Given the description of an element on the screen output the (x, y) to click on. 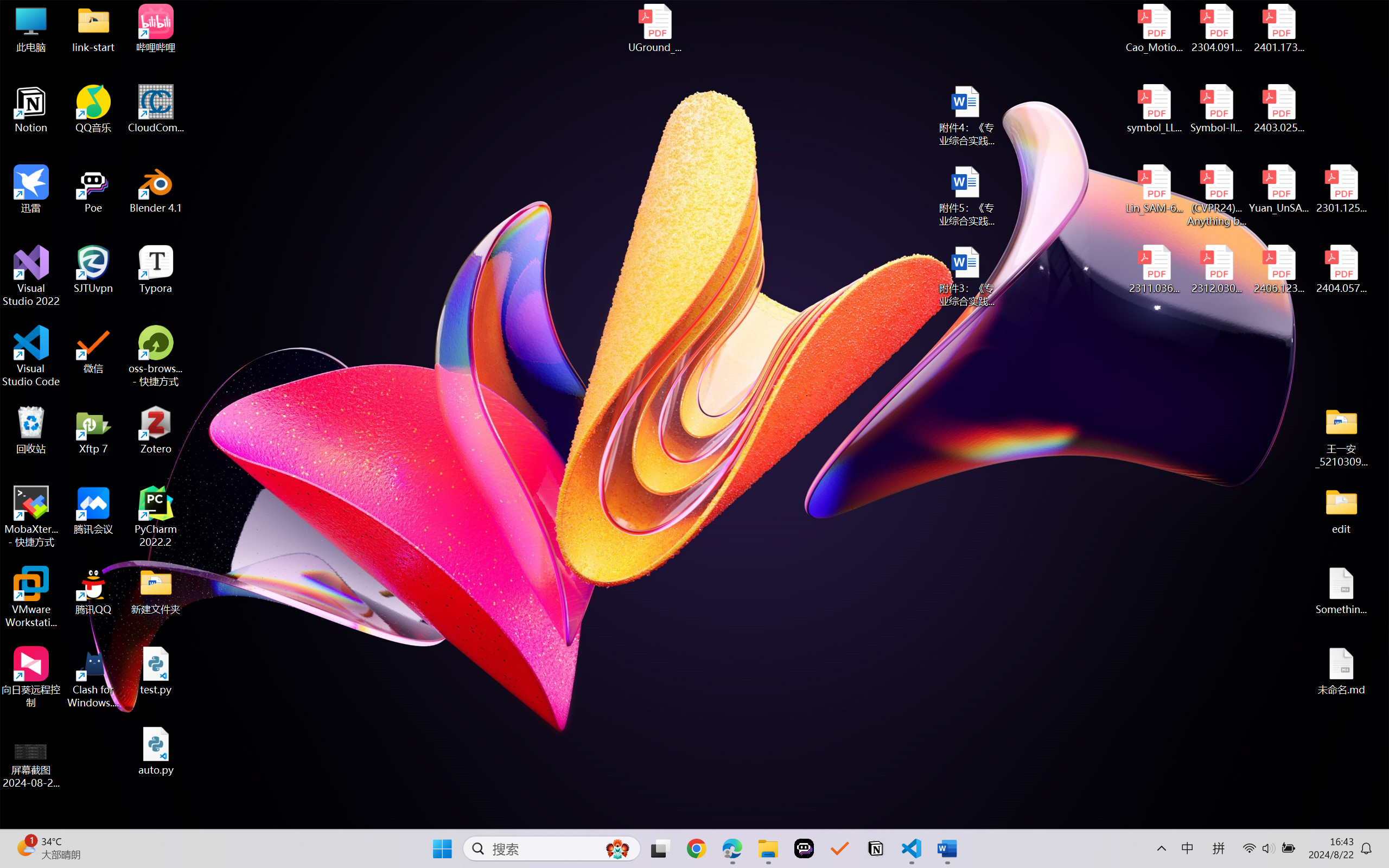
PyCharm 2022.2 (156, 516)
Typora (156, 269)
edit (1340, 510)
2406.12373v2.pdf (1278, 269)
CloudCompare (156, 109)
2401.17399v1.pdf (1278, 28)
Something.md (1340, 591)
2403.02502v1.pdf (1278, 109)
